Given the description of an element on the screen output the (x, y) to click on. 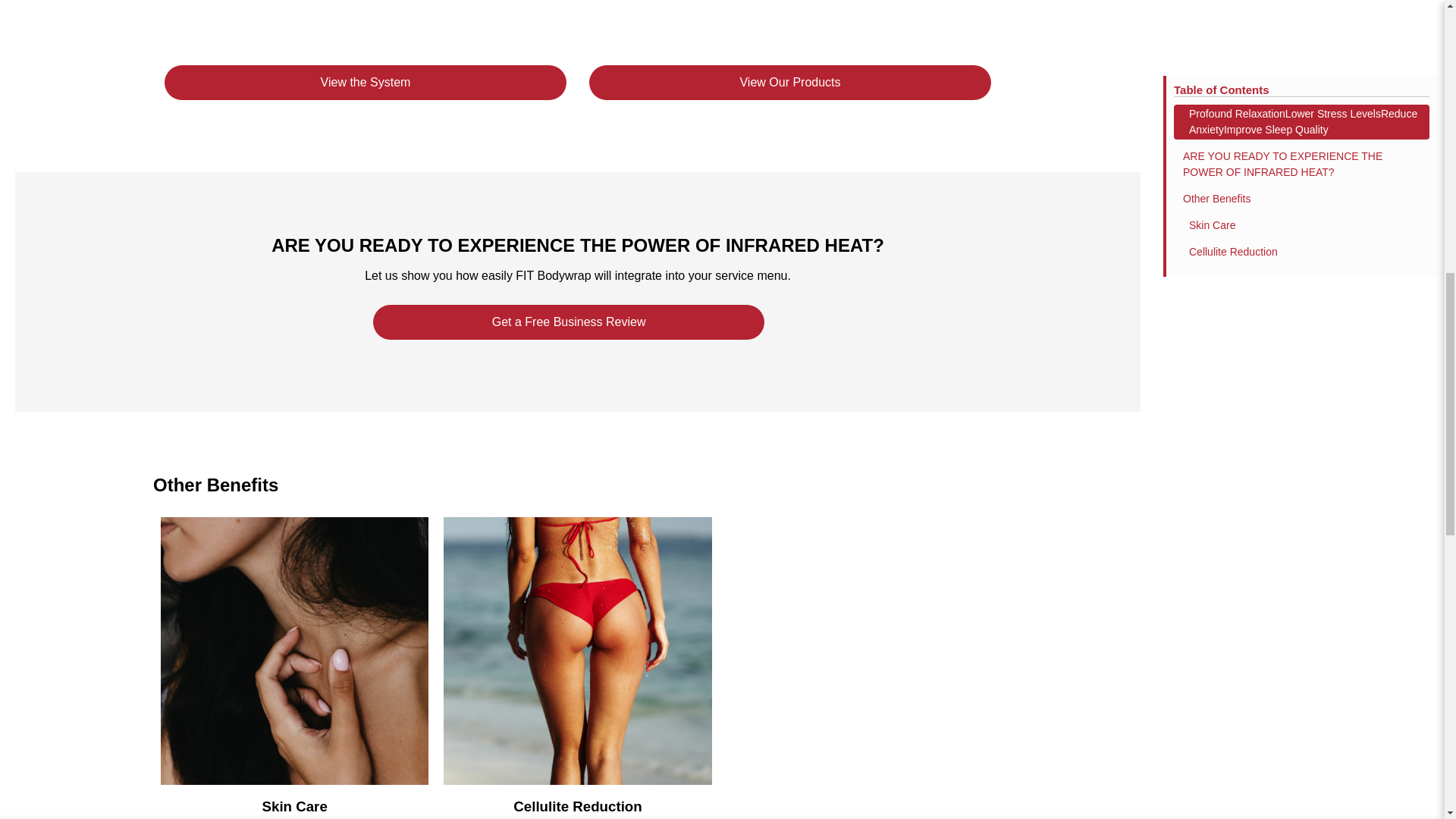
View Our Products (790, 82)
View the System (365, 82)
Get a Free Business Review (568, 321)
